Given the description of an element on the screen output the (x, y) to click on. 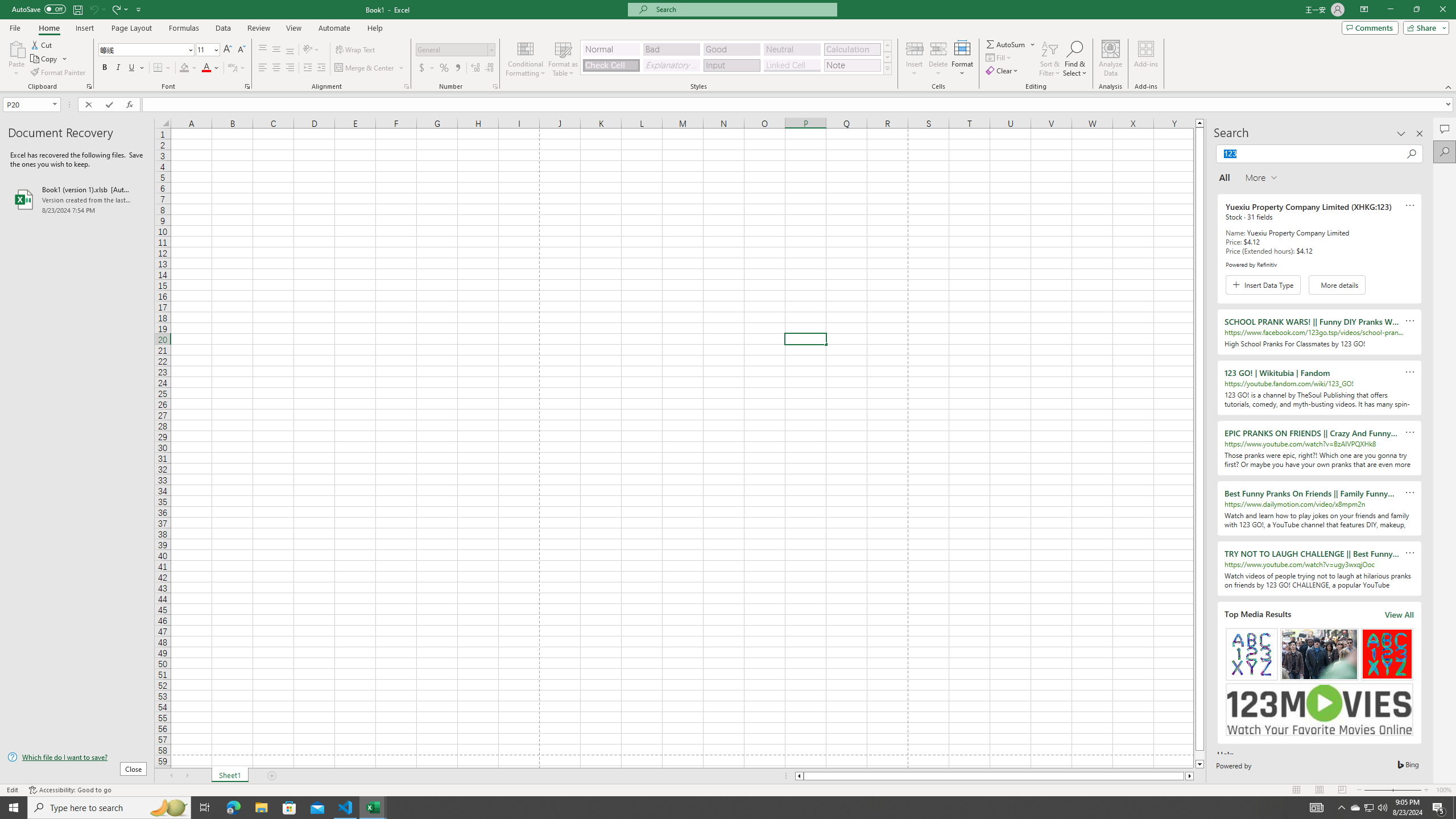
Book1 (version 1).xlsb  [AutoRecovered] (77, 199)
Close pane (1419, 133)
Number Format (451, 49)
Wrap Text (355, 49)
Merge & Center (365, 67)
Copy (45, 58)
AutomationID: CellStylesGallery (736, 57)
Good (731, 49)
Font (142, 49)
Insert Cells (914, 48)
Align Left (262, 67)
